Given the description of an element on the screen output the (x, y) to click on. 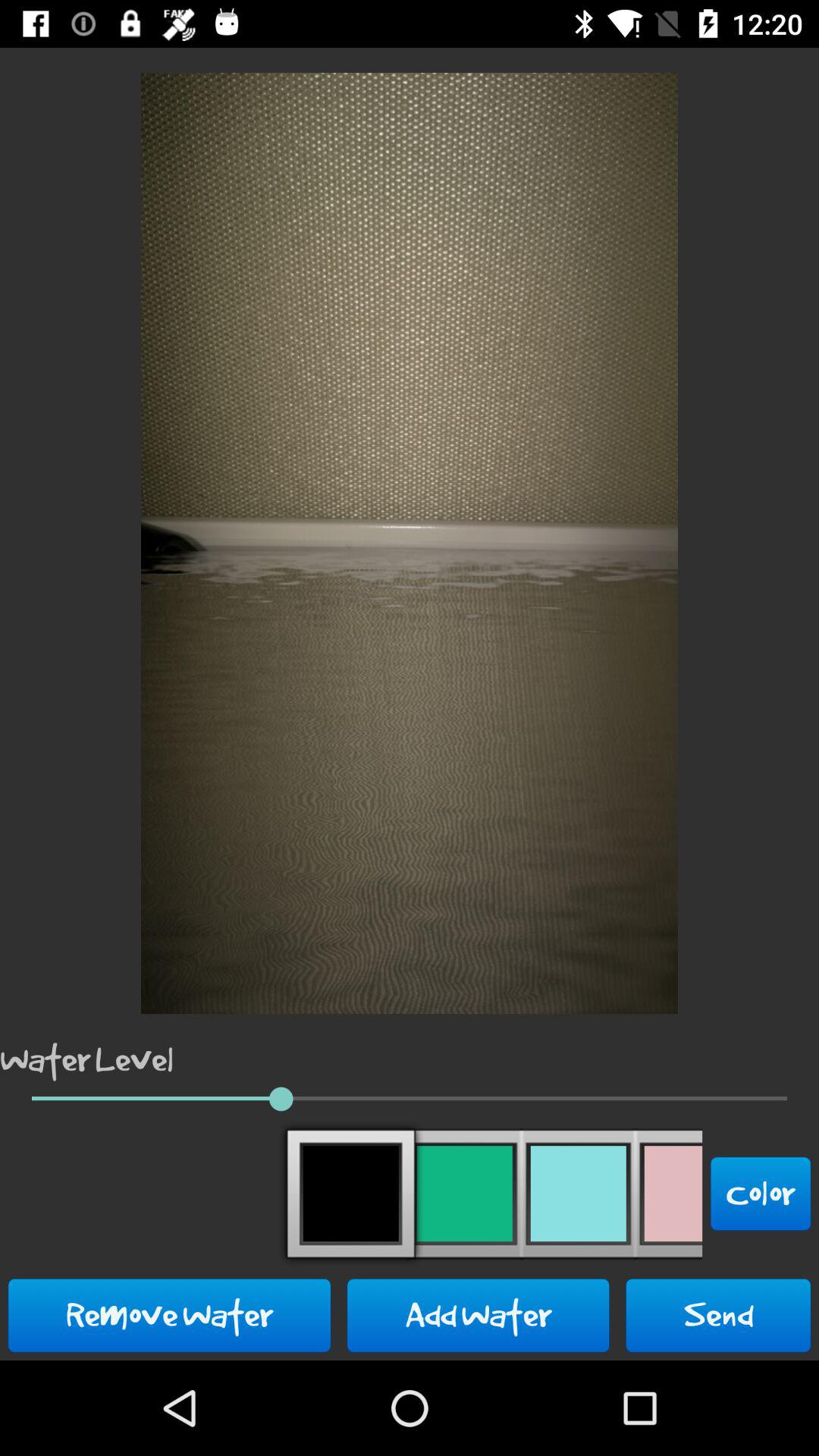
swipe until send button (718, 1315)
